Given the description of an element on the screen output the (x, y) to click on. 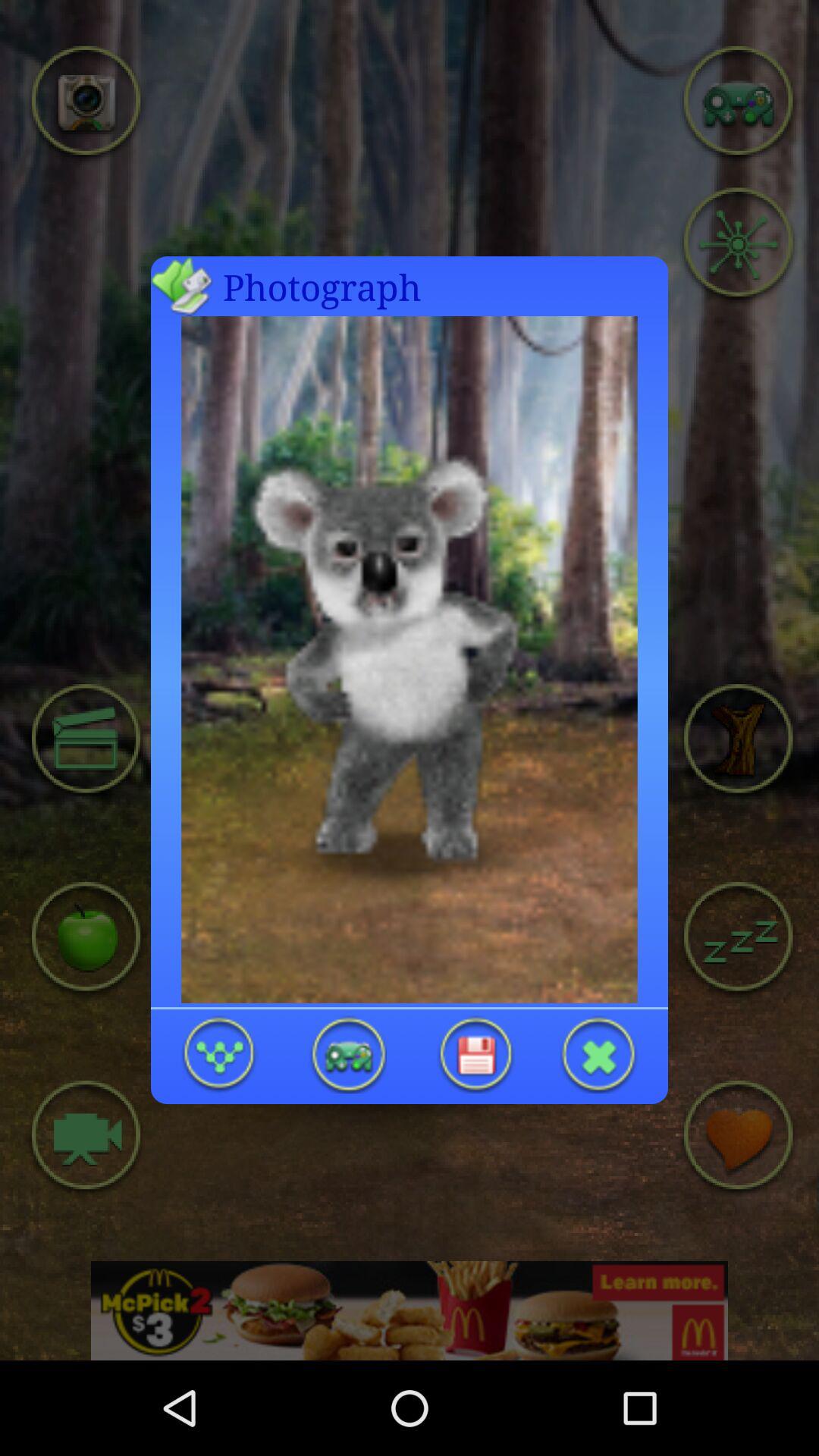
close opened photo (599, 1054)
